Given the description of an element on the screen output the (x, y) to click on. 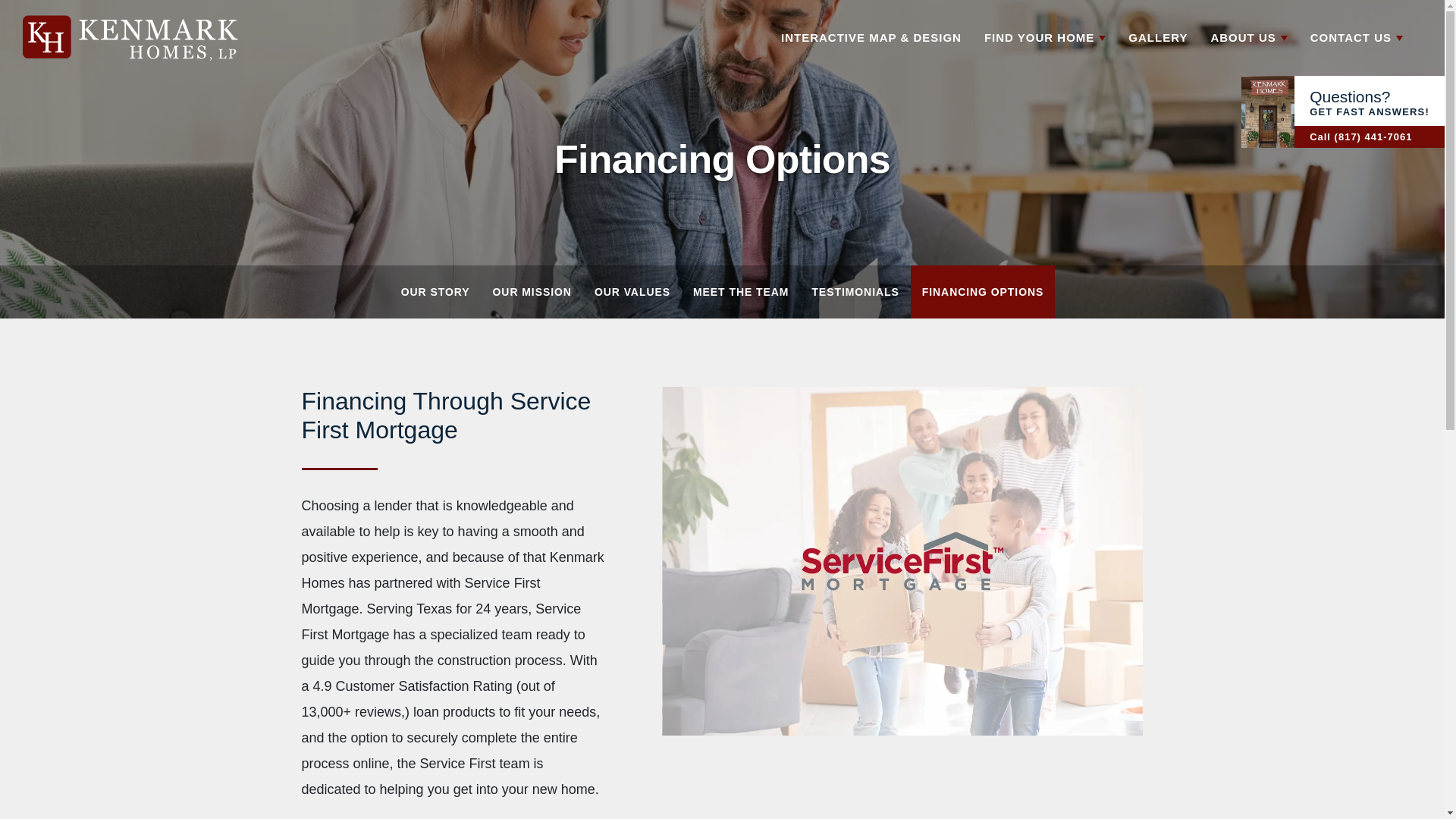
Our Values (632, 291)
GALLERY (1157, 38)
Our Mission (532, 291)
Testimonials (854, 291)
Meet The Team (740, 291)
MEET THE TEAM (740, 291)
Our Story (435, 291)
TESTIMONIALS (854, 291)
OUR MISSION (532, 291)
Financing Options (982, 291)
